Given the description of an element on the screen output the (x, y) to click on. 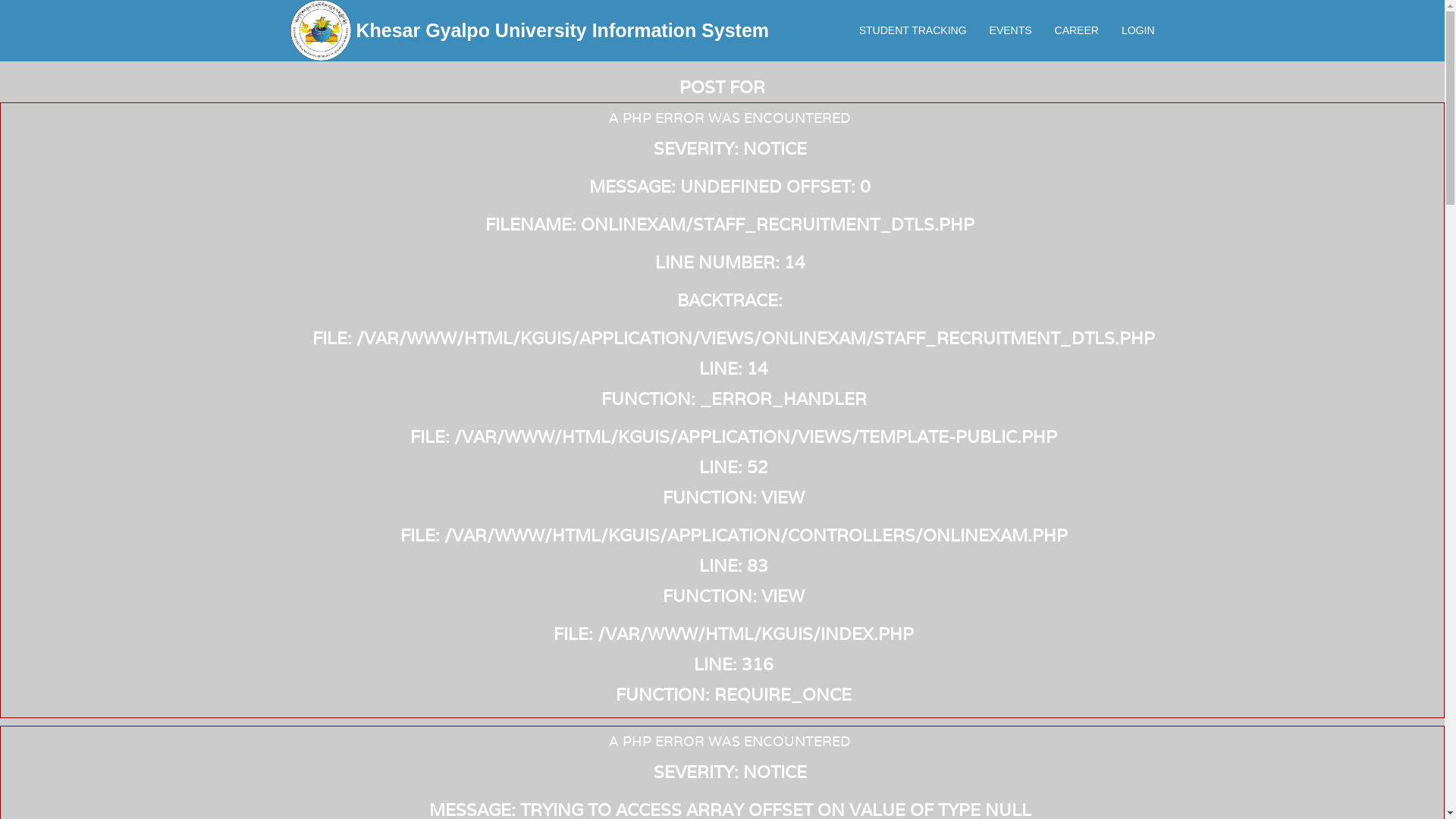
EVENTS Element type: text (1010, 30)
STUDENT TRACKING Element type: text (912, 30)
LOGIN Element type: text (1138, 30)
CAREER Element type: text (1076, 30)
